Given the description of an element on the screen output the (x, y) to click on. 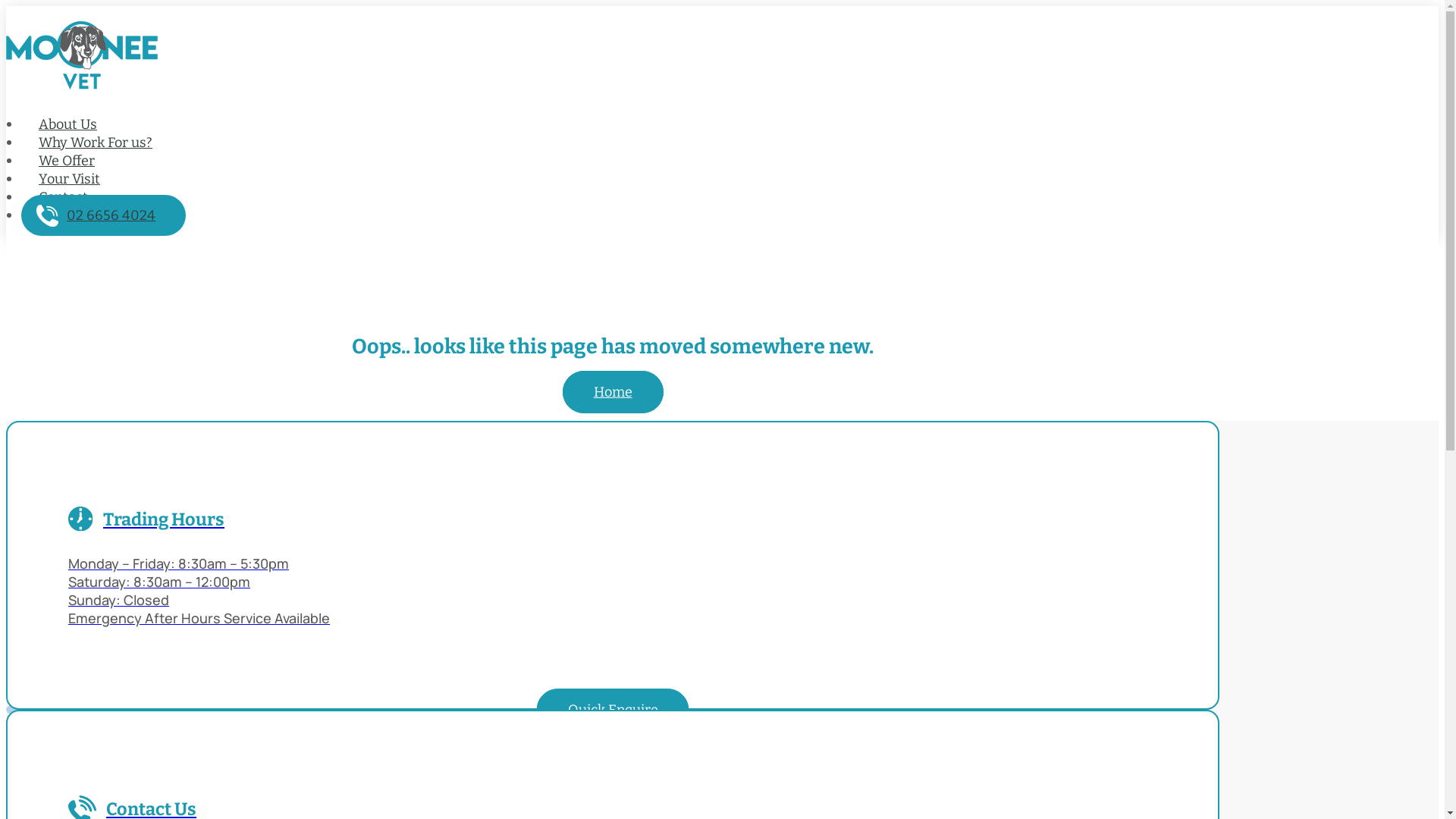
We Offer Element type: text (66, 160)
Contact Element type: text (63, 196)
Your Visit Element type: text (69, 178)
Why Work For us? Element type: text (95, 142)
Home Element type: text (612, 391)
02 6656 4024 Element type: text (103, 214)
About Us Element type: text (67, 123)
Moonee Vet Element type: hover (612, 54)
